Given the description of an element on the screen output the (x, y) to click on. 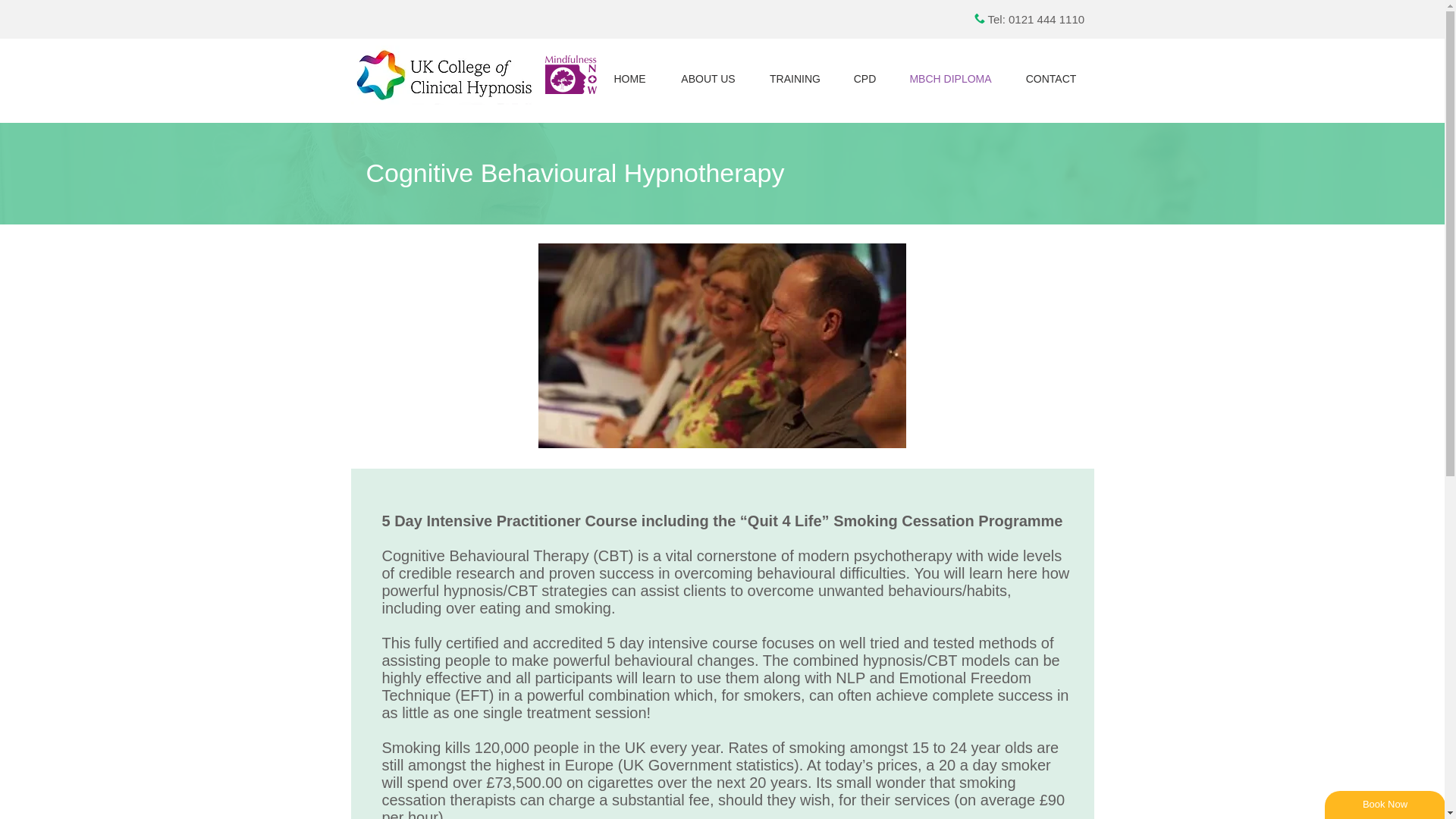
CONTACT (1051, 79)
CPD (865, 79)
TRAINING (795, 79)
ABOUT US (707, 79)
HOME (628, 79)
MBCH DIPLOMA (951, 79)
